Given the description of an element on the screen output the (x, y) to click on. 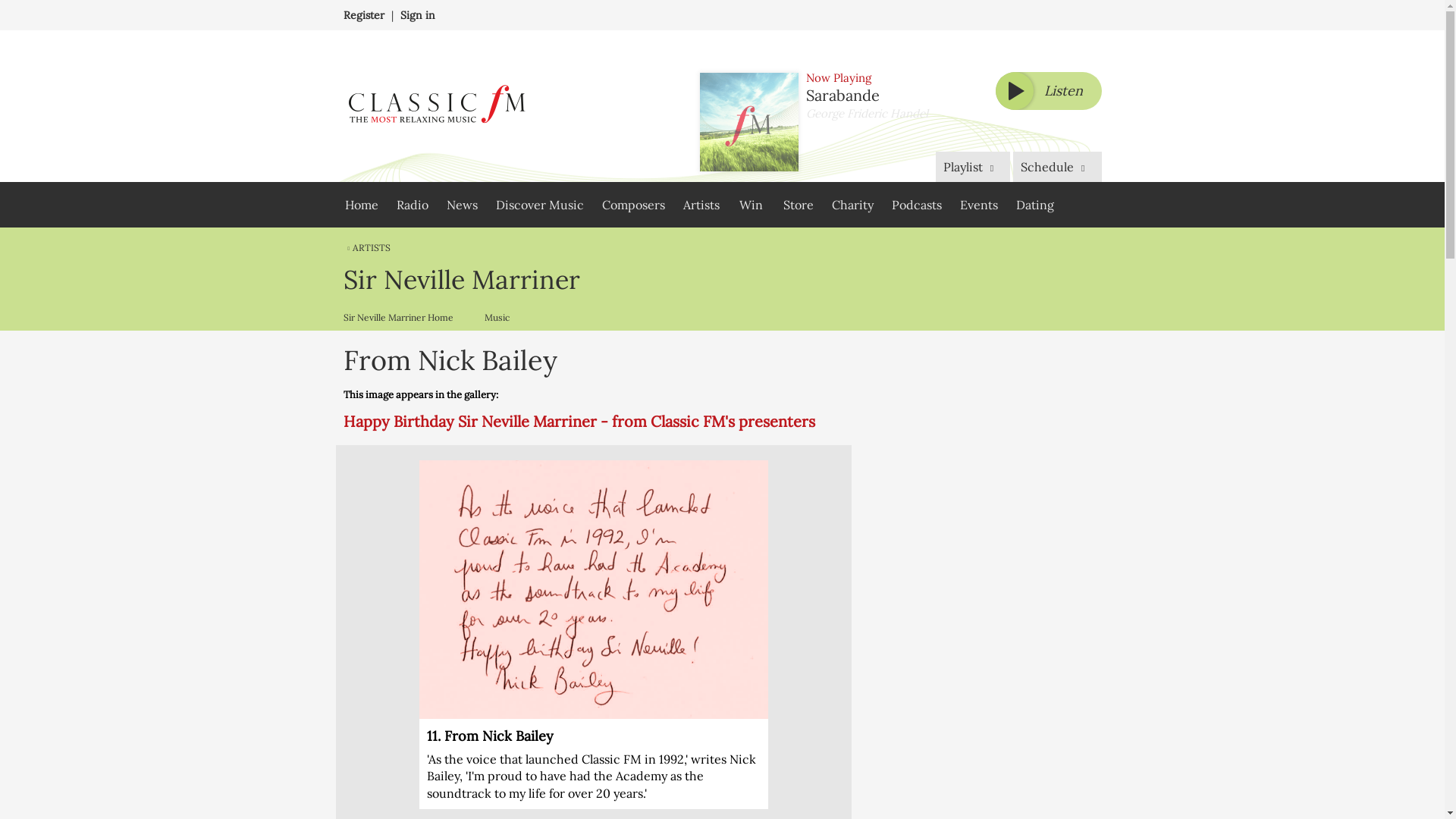
Schedule (1056, 166)
Dating (1034, 204)
Discover Music (539, 204)
Charity (852, 204)
Radio (411, 204)
Home (360, 204)
News (461, 204)
Sign in (417, 15)
Podcasts (916, 204)
Events (978, 204)
